Given the description of an element on the screen output the (x, y) to click on. 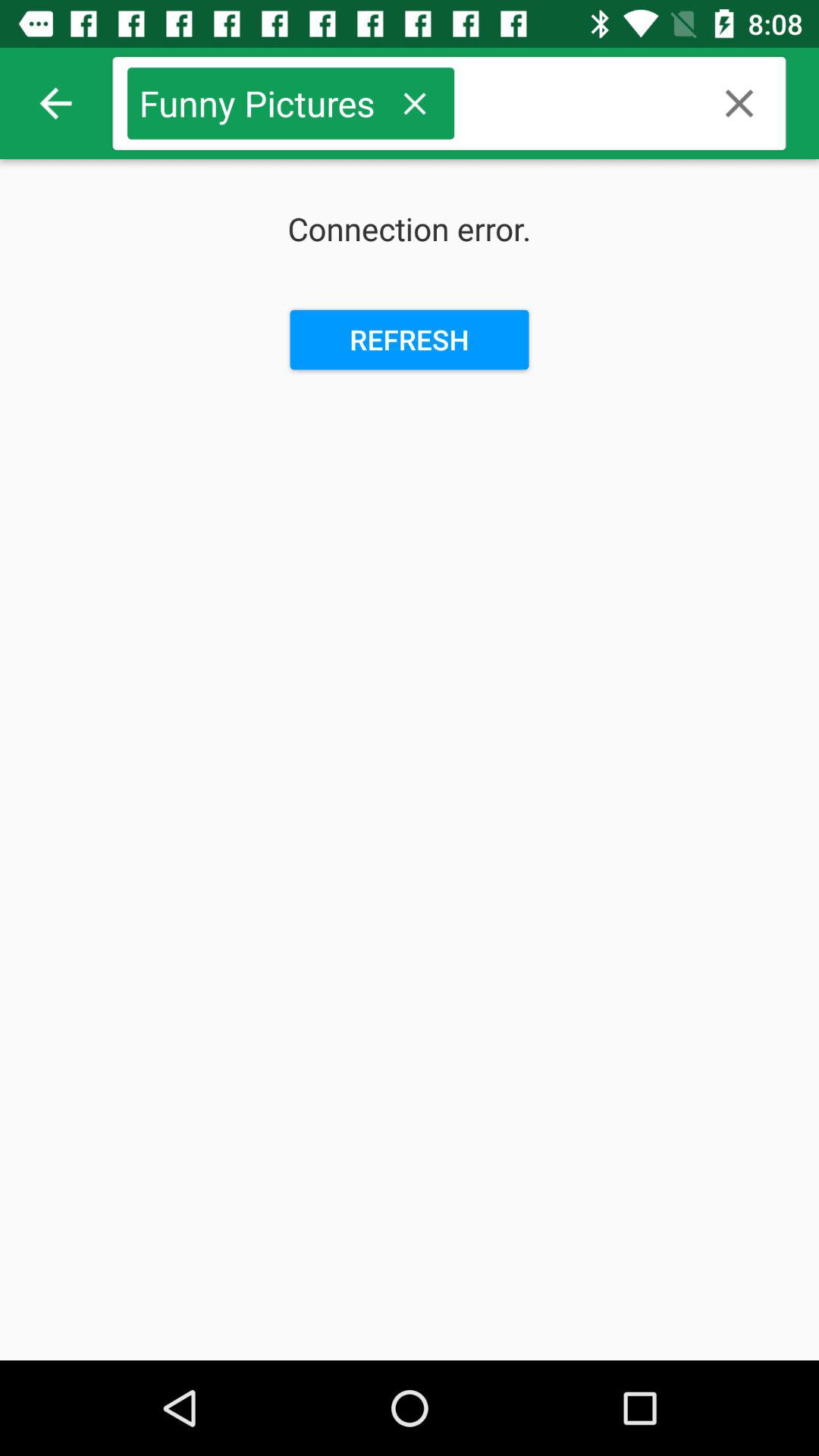
turn off item above the connection error. (55, 103)
